Given the description of an element on the screen output the (x, y) to click on. 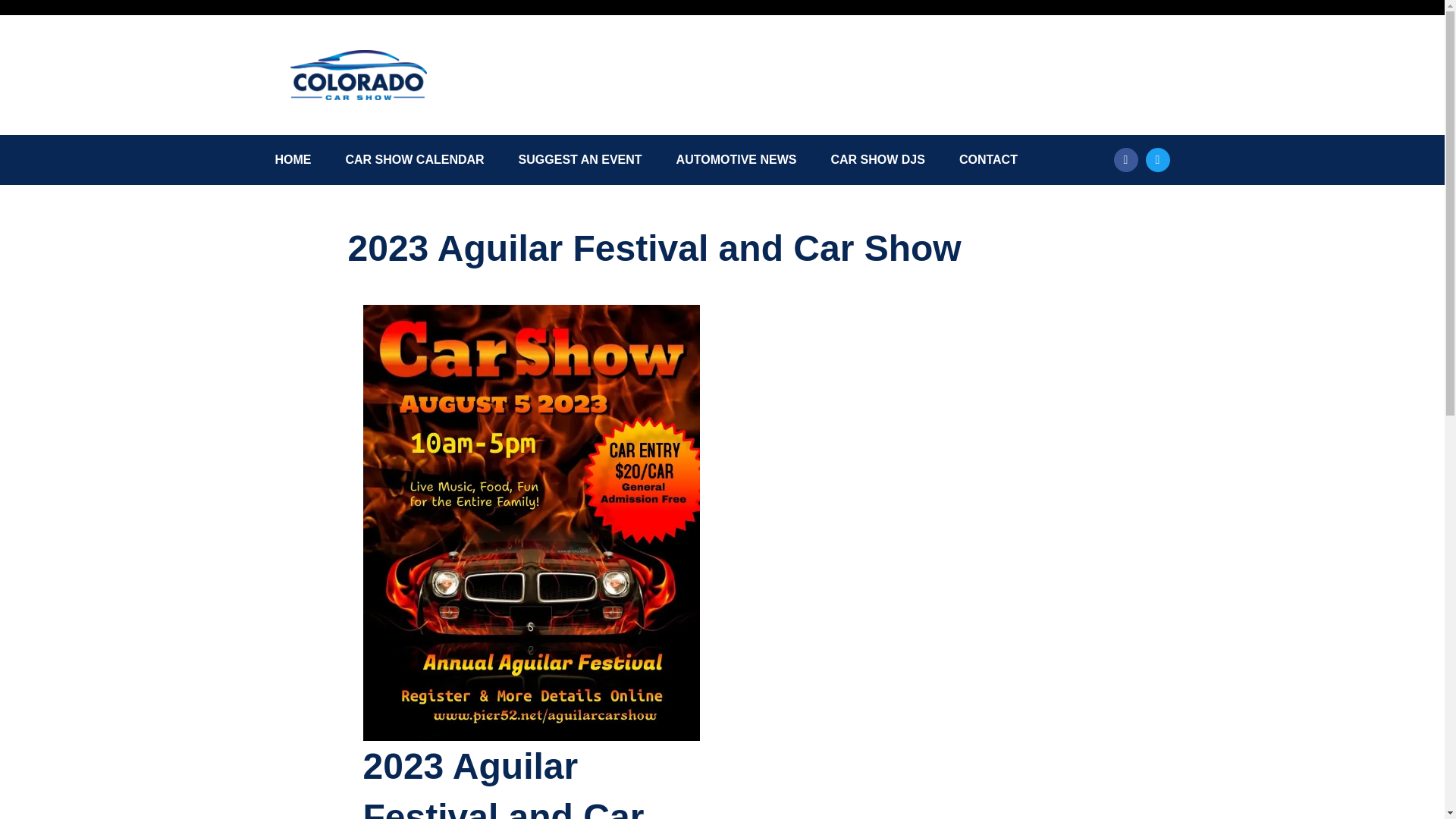
CAR SHOW CALENDAR (415, 159)
AUTOMOTIVE NEWS (736, 159)
HOME (293, 159)
Twitter (1156, 159)
CAR SHOW DJS (876, 159)
SUGGEST AN EVENT (580, 159)
CONTACT (988, 159)
Facebook-f (1125, 159)
